Given the description of an element on the screen output the (x, y) to click on. 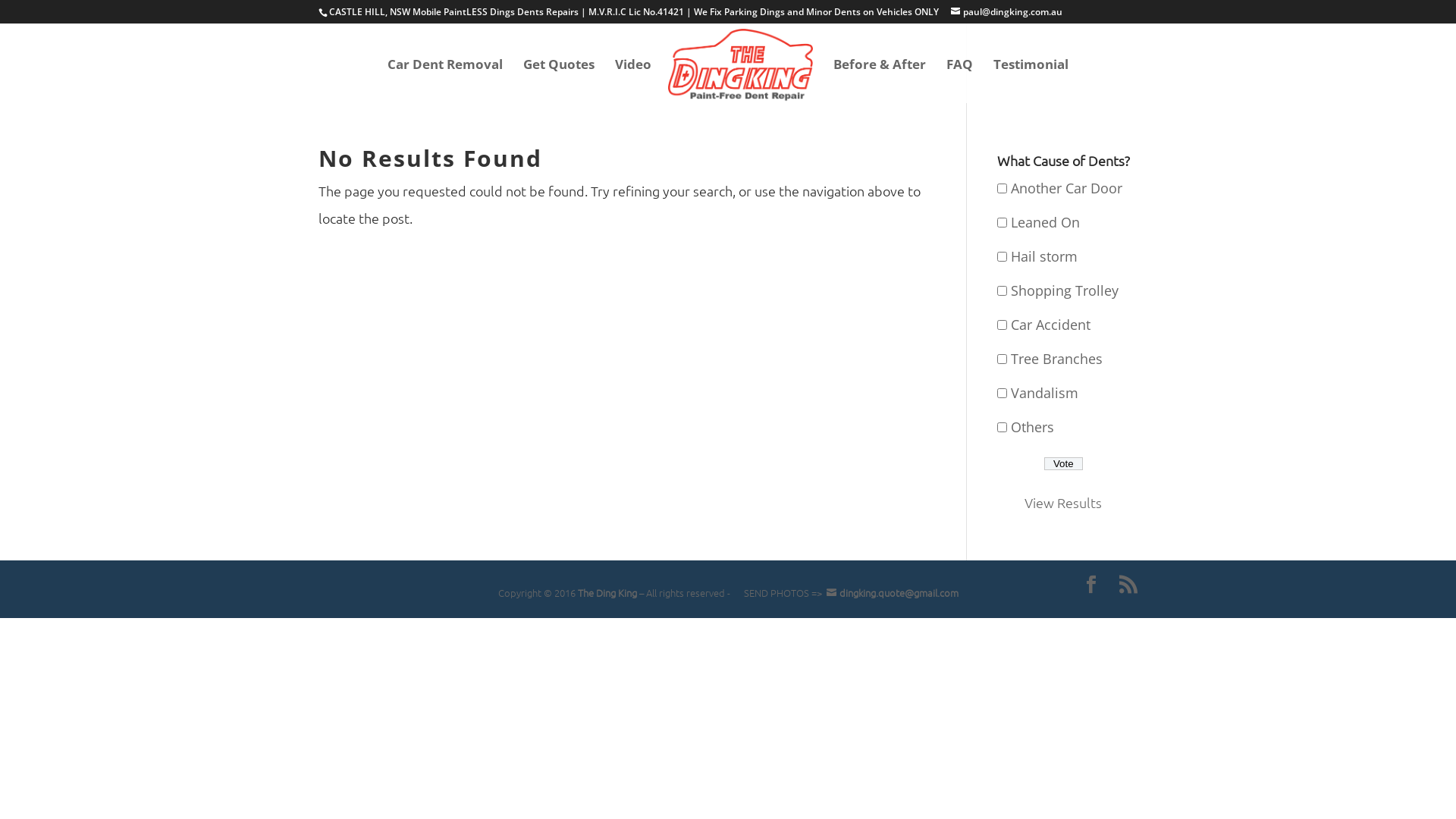
FAQ Element type: text (959, 81)
Testimonial Element type: text (1030, 81)
 dingking.quote@gmail.com Element type: text (890, 592)
Video Element type: text (633, 81)
The Ding King Element type: text (607, 592)
Car Dent Removal Element type: text (444, 81)
View Results Element type: text (1062, 502)
   Vote    Element type: text (1063, 463)
Before & After Element type: text (879, 81)
paul@dingking.com.au Element type: text (1006, 11)
Get Quotes Element type: text (558, 81)
